Given the description of an element on the screen output the (x, y) to click on. 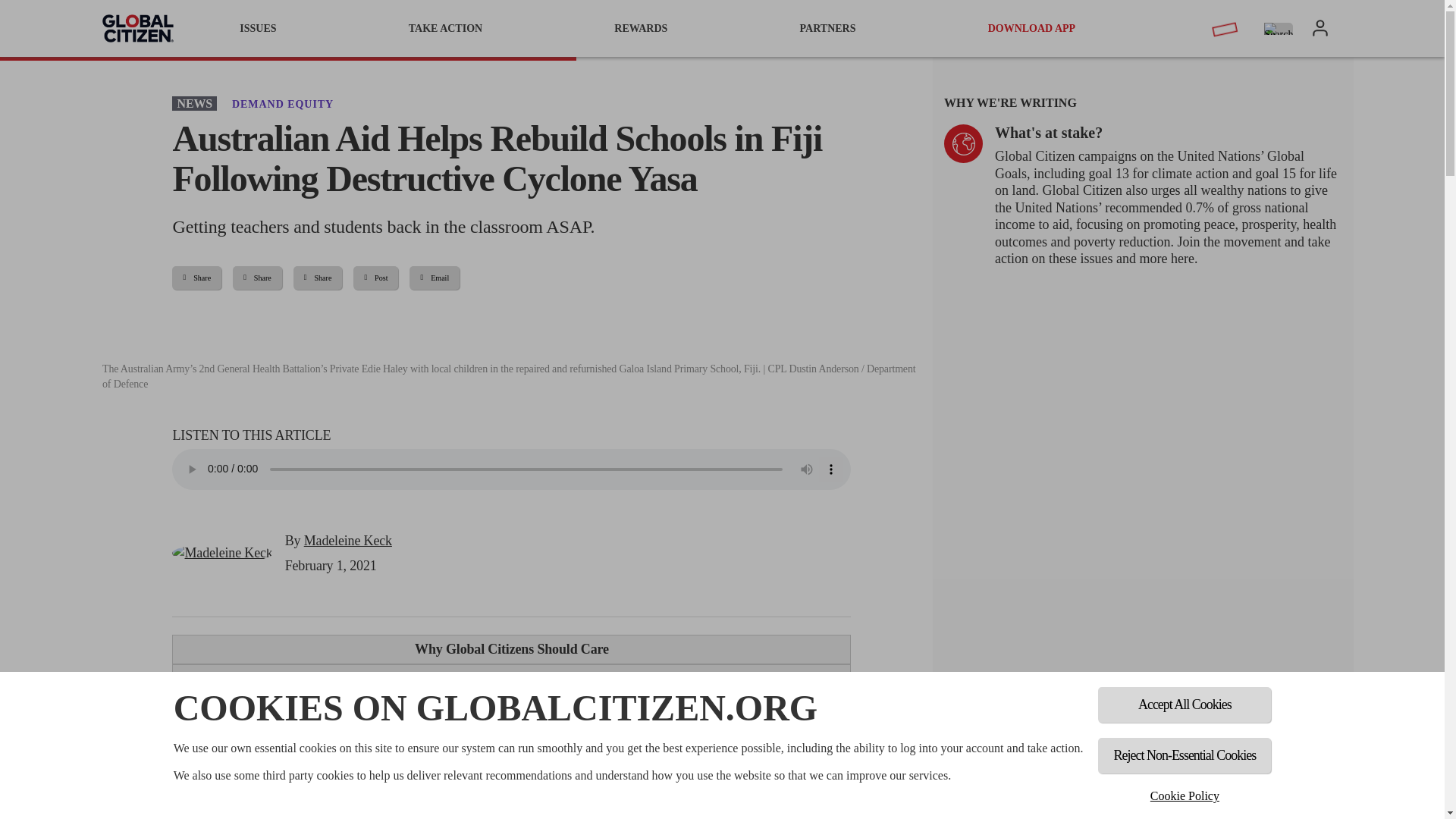
Email (434, 277)
Madeleine Keck (221, 552)
Share (318, 277)
REWARDS (640, 28)
Share (196, 277)
ISSUES (257, 28)
PARTNERS (828, 28)
TAKE ACTION (445, 28)
DEMAND EQUITY (282, 103)
Madeleine Keck (347, 540)
Share (257, 277)
DOWNLOAD APP (1031, 28)
Demand Equity (282, 103)
Post (375, 277)
